Given the description of an element on the screen output the (x, y) to click on. 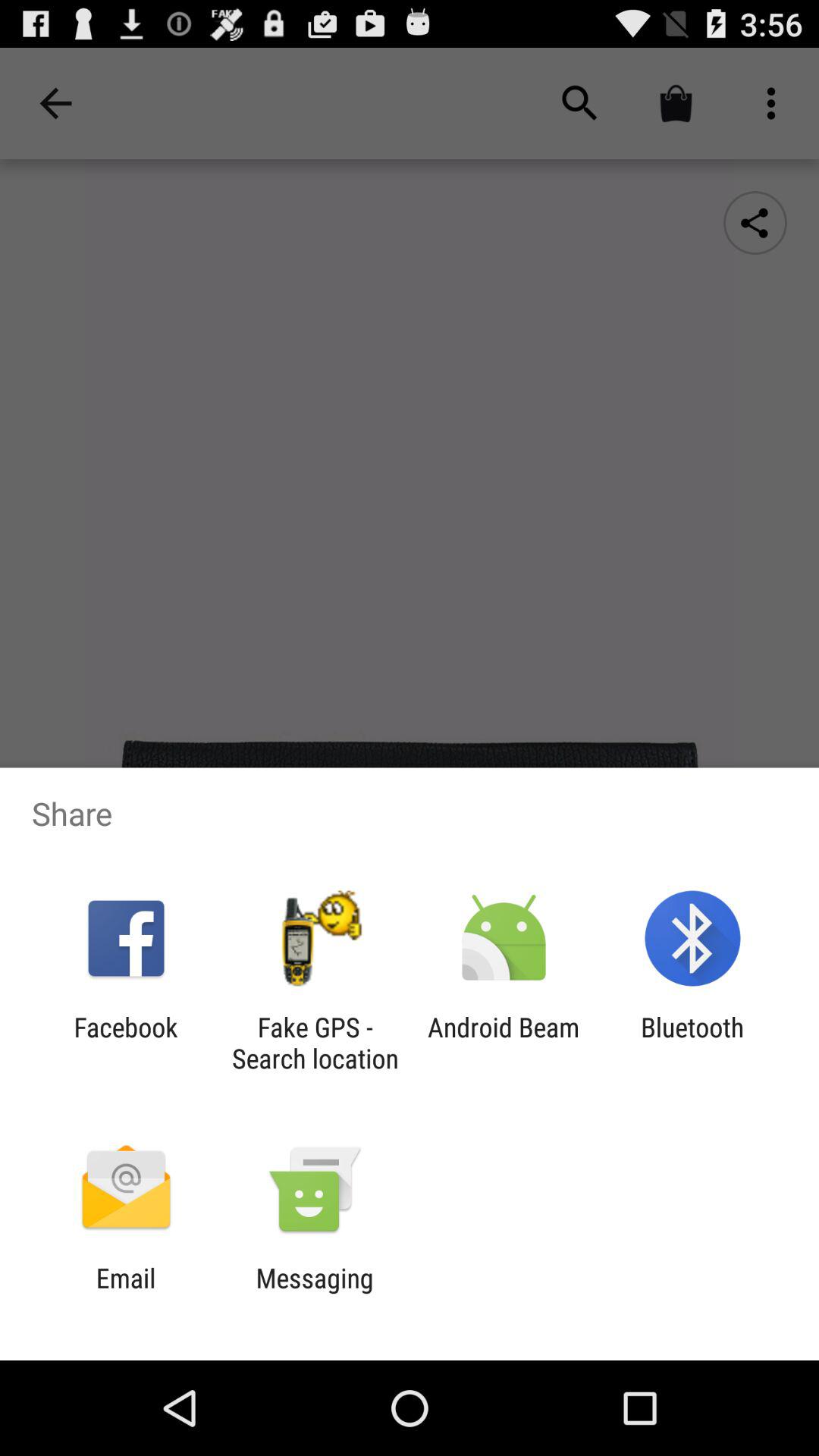
turn on facebook item (125, 1042)
